Given the description of an element on the screen output the (x, y) to click on. 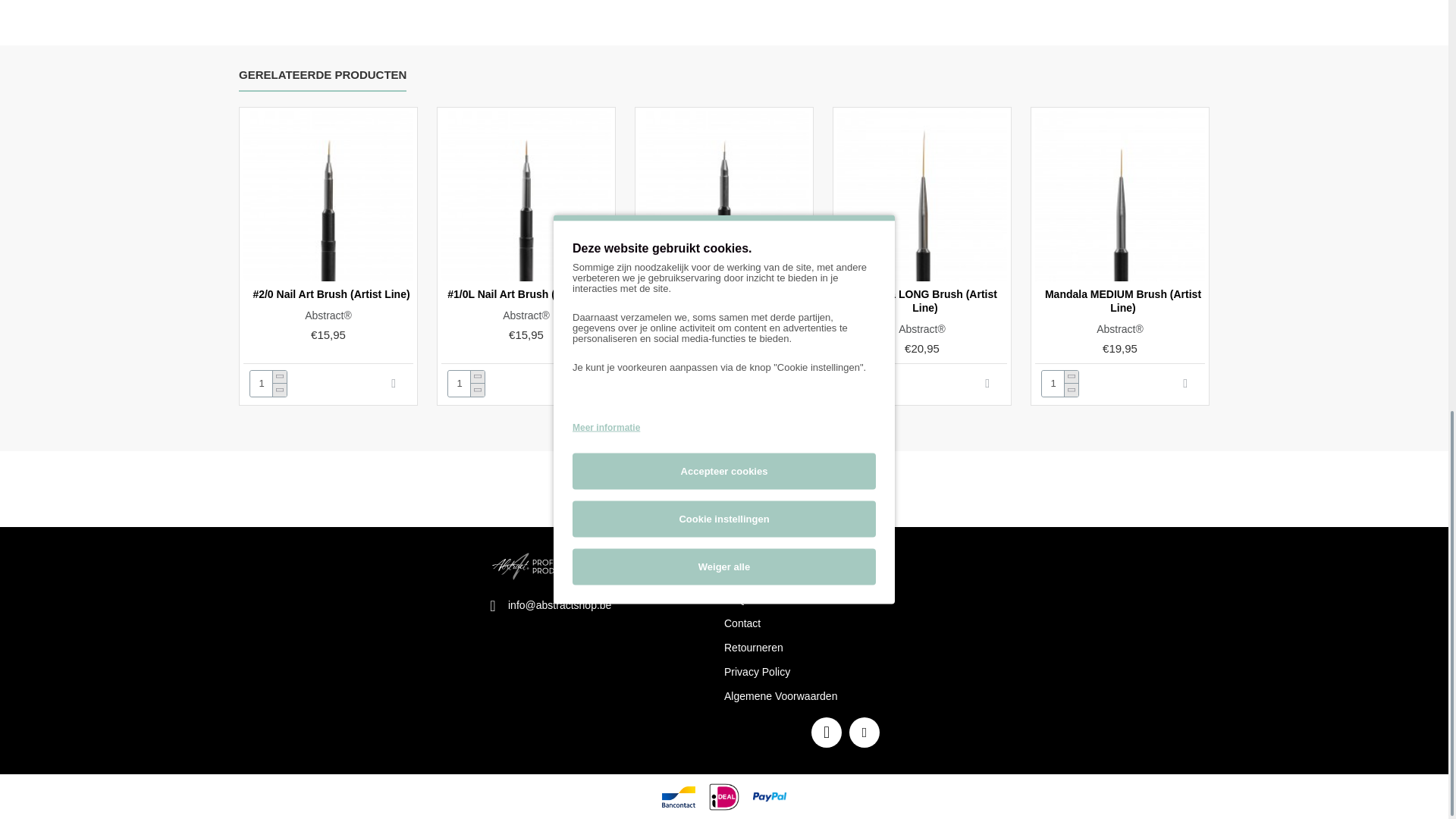
1 (268, 383)
1 (664, 383)
1 (466, 383)
1 (1060, 383)
1 (862, 383)
